Given the description of an element on the screen output the (x, y) to click on. 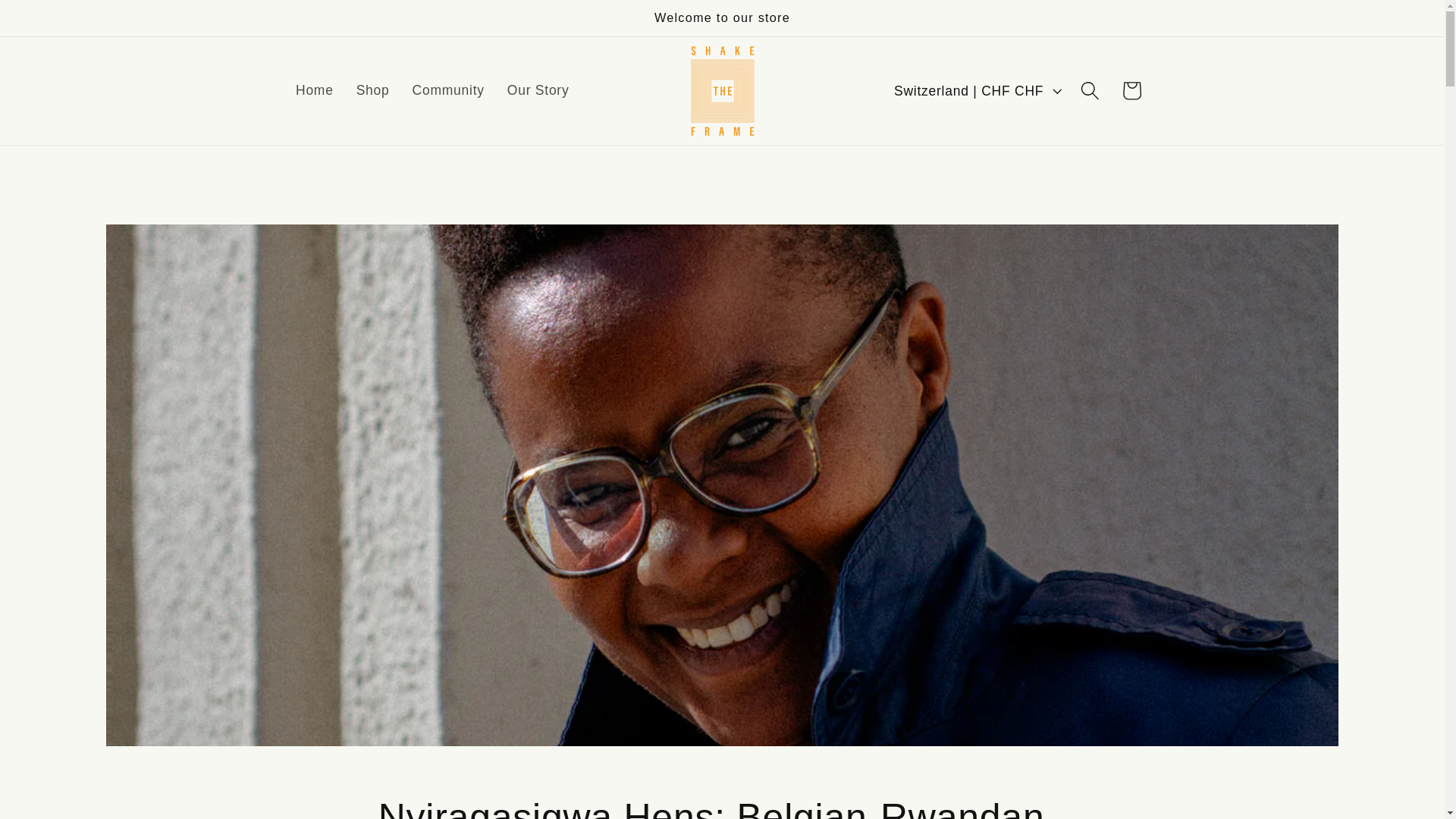
Cart (1131, 90)
Skip to content (57, 21)
Shop (373, 90)
Community (448, 90)
Home (314, 90)
Our Story (538, 90)
